Given the description of an element on the screen output the (x, y) to click on. 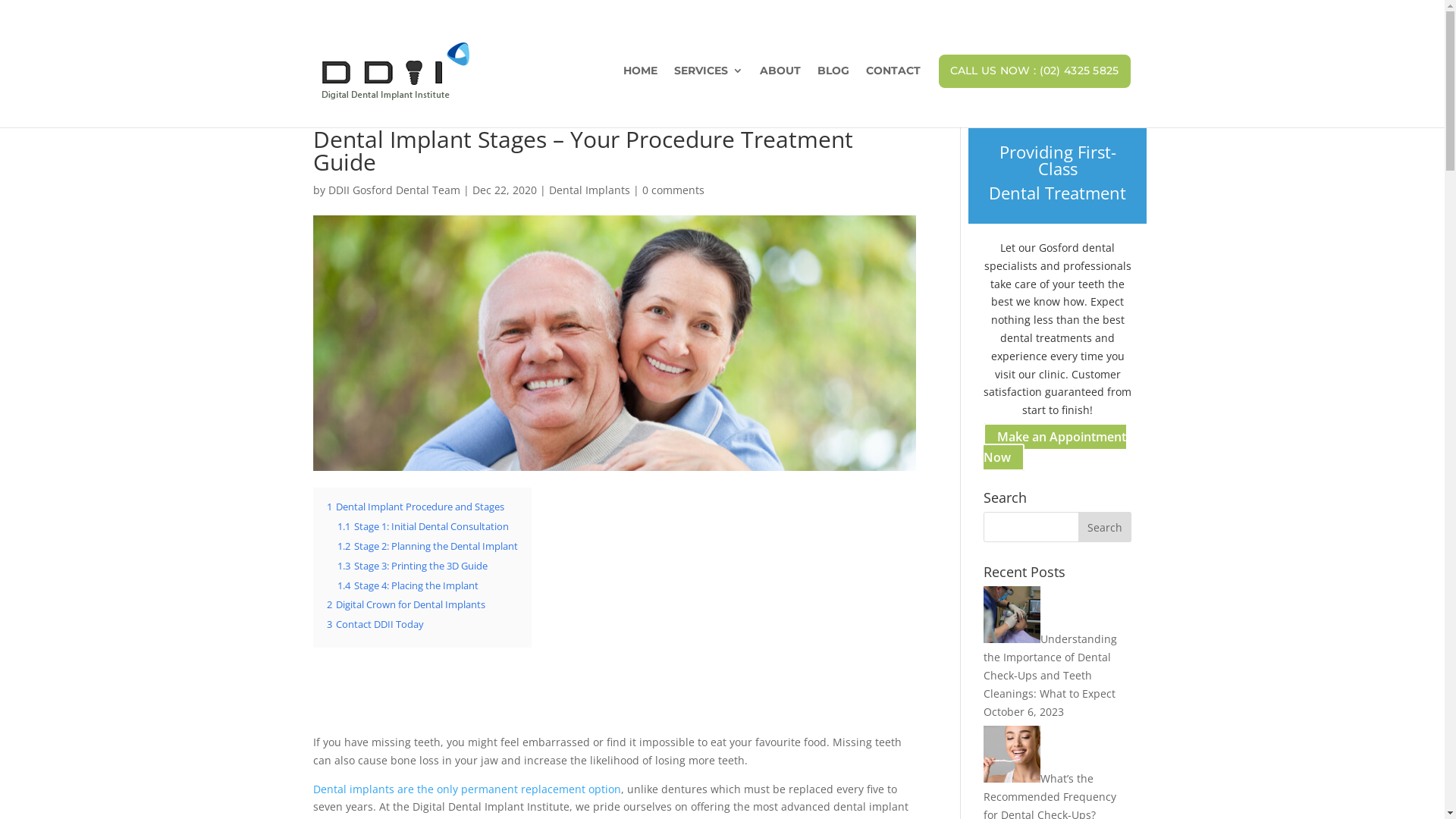
0 comments Element type: text (672, 189)
1.4 Stage 4: Placing the Implant Element type: text (406, 585)
Dental Implants Element type: text (589, 189)
SERVICES Element type: text (708, 85)
Dental implants are the only permanent replacement option Element type: text (466, 788)
1 Dental Implant Procedure and Stages Element type: text (414, 506)
ABOUT Element type: text (779, 85)
BLOG Element type: text (833, 85)
1.3 Stage 3: Printing the 3D Guide Element type: text (411, 565)
Search Element type: text (1104, 526)
HOME Element type: text (640, 85)
1.2 Stage 2: Planning the Dental Implant Element type: text (426, 545)
CONTACT Element type: text (893, 85)
DDII Gosford Dental Team Element type: text (393, 189)
Make an Appointment Now Element type: text (1054, 446)
1.1 Stage 1: Initial Dental Consultation Element type: text (422, 526)
2 Digital Crown for Dental Implants Element type: text (405, 604)
CALL US NOW : (02) 4325 5825 Element type: text (1034, 86)
3 Contact DDII Today Element type: text (374, 624)
